Given the description of an element on the screen output the (x, y) to click on. 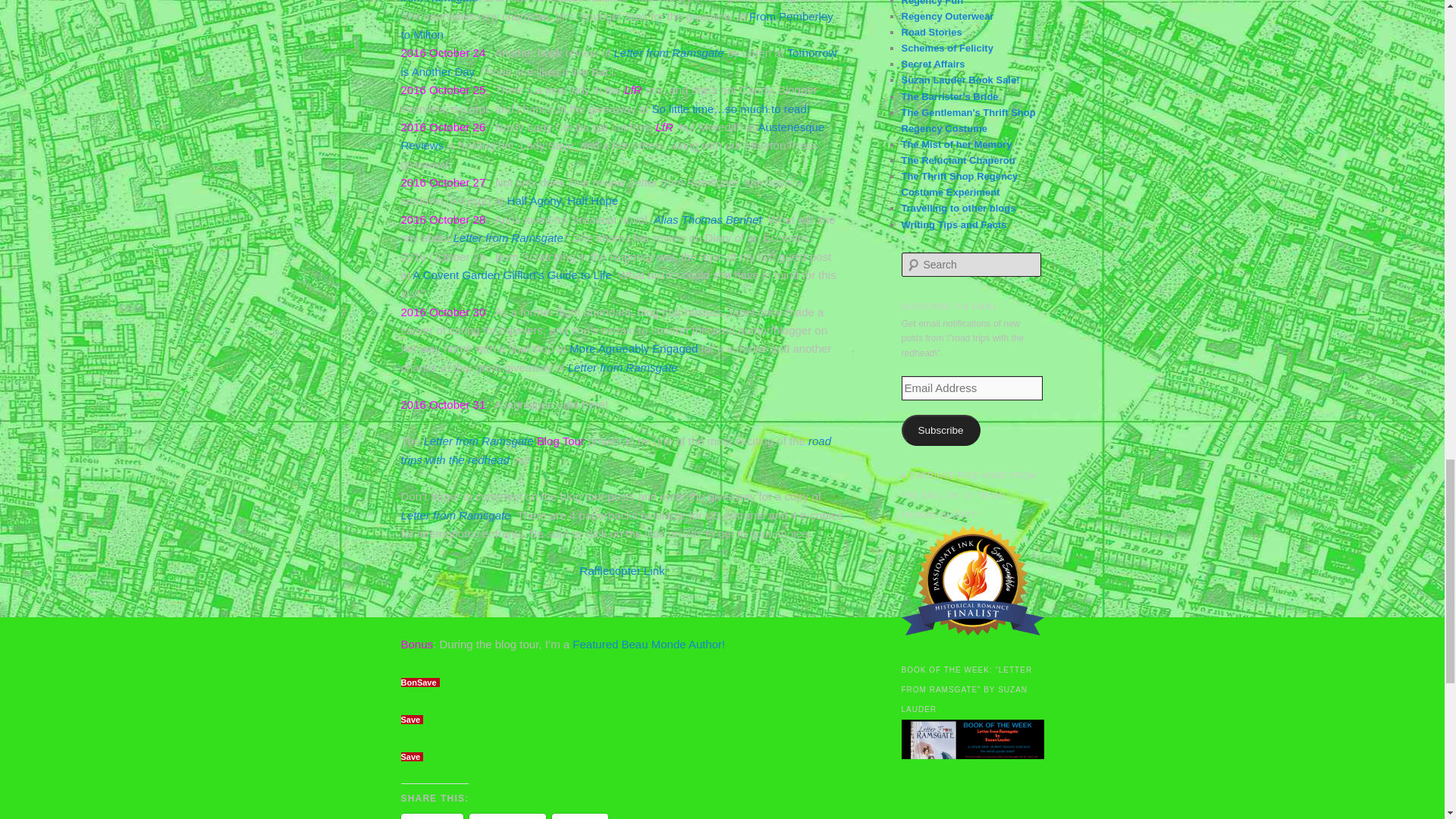
road trips with the redhead (615, 450)
More Agreeably Engaged (633, 348)
Austenesque Reviews (612, 135)
Letter from Ramsgate (622, 367)
Alias Thomas Bennet (707, 219)
Half Agony, Half Hope (561, 200)
Letter from Ramsgate (507, 237)
Letter from Ramsgate (455, 514)
Click to share on Twitter (431, 816)
